Given the description of an element on the screen output the (x, y) to click on. 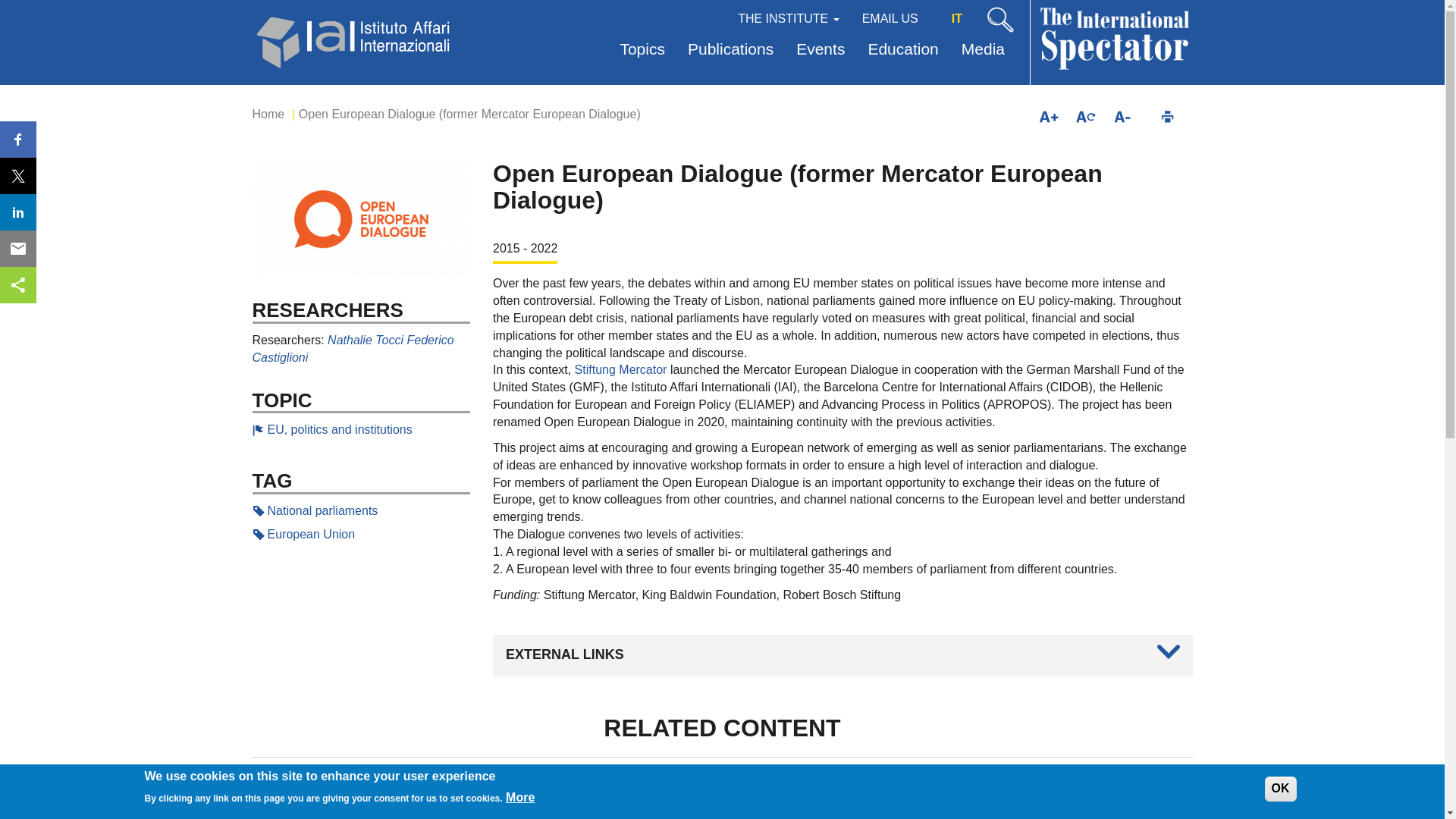
Media (983, 49)
Education (902, 49)
Home (267, 113)
IT (956, 18)
THE INSTITUTE (788, 16)
go to Home page (354, 38)
Publications (730, 49)
EMAIL US (890, 16)
Topics (642, 49)
Events (820, 49)
